Given the description of an element on the screen output the (x, y) to click on. 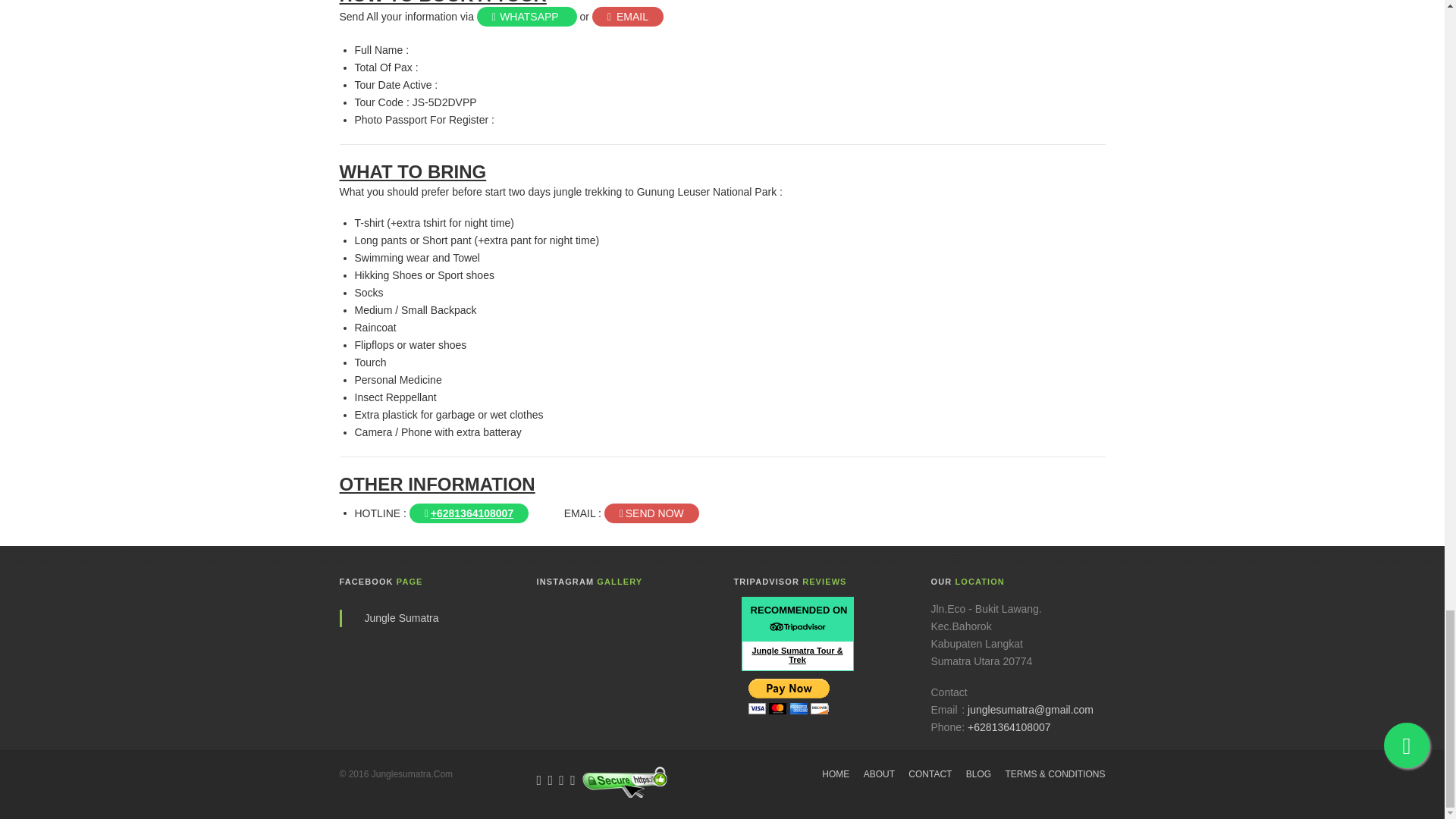
Instagram widgets for website (628, 641)
This website is secure for transaction!! (623, 781)
